Given the description of an element on the screen output the (x, y) to click on. 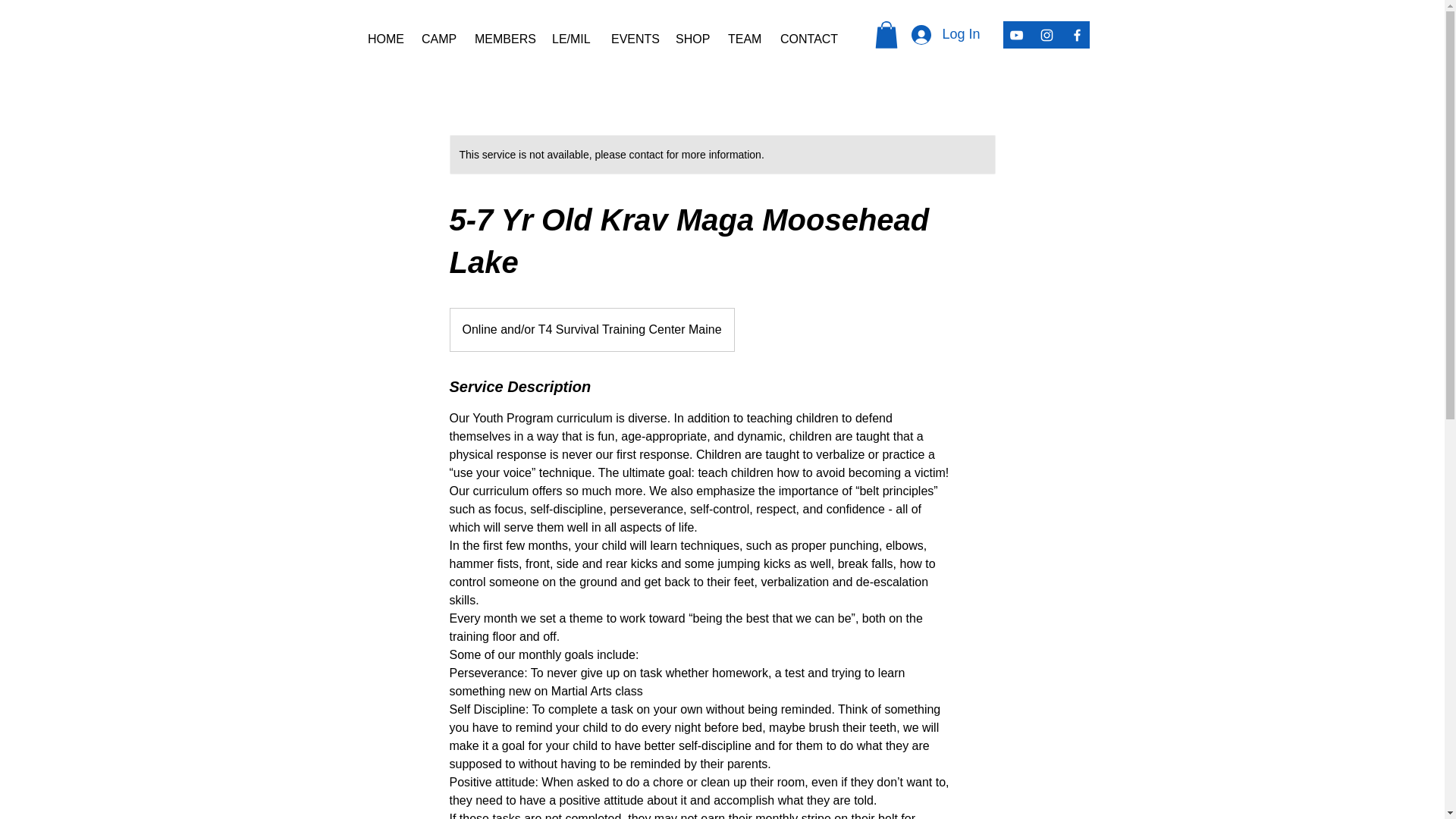
HOME (383, 39)
EVENTS (631, 39)
SHOP (689, 39)
CONTACT (803, 39)
Log In (945, 33)
CAMP (436, 39)
TEAM (742, 39)
